Given the description of an element on the screen output the (x, y) to click on. 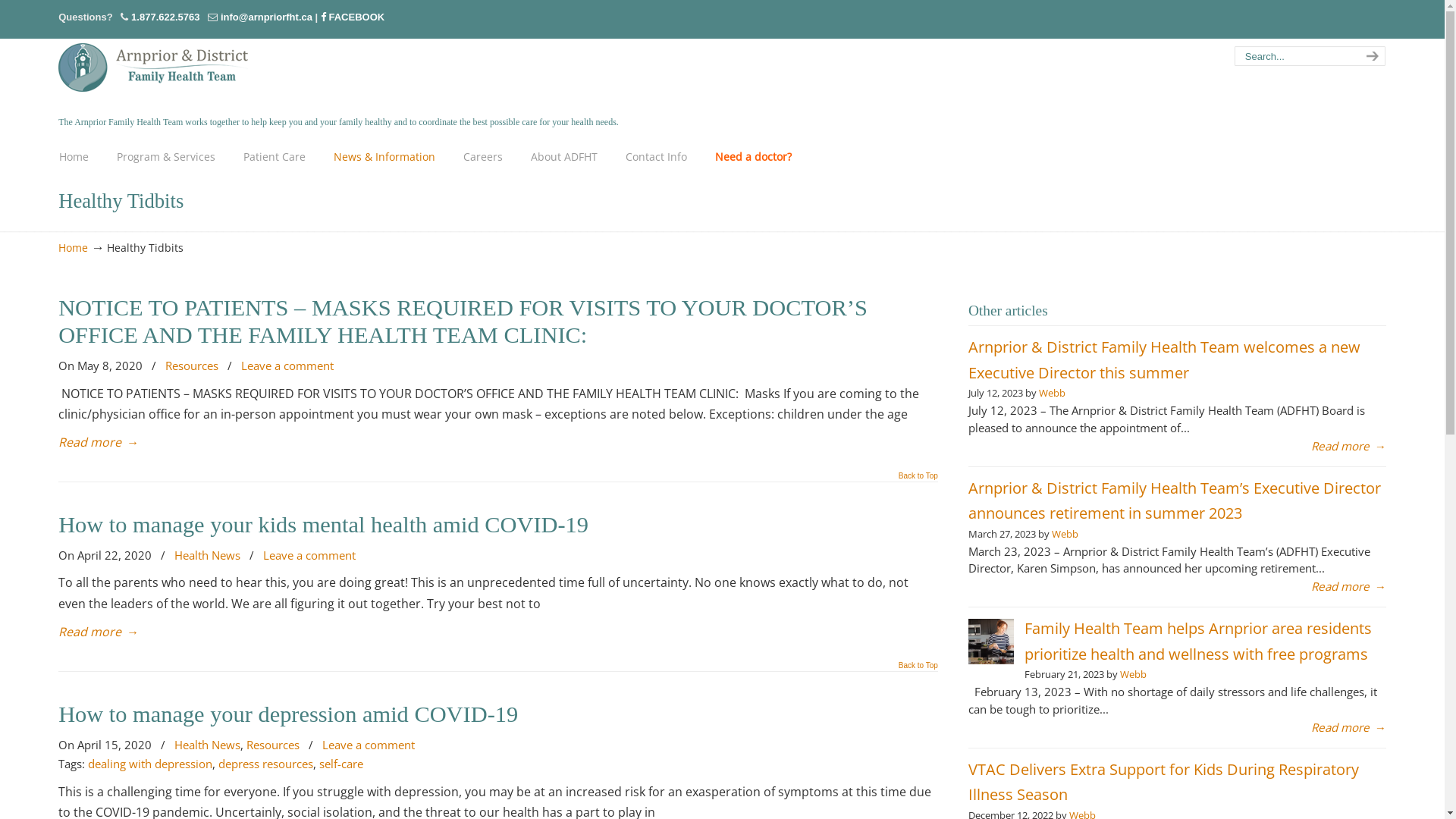
Resources Element type: text (191, 366)
Webb Element type: text (1051, 392)
Leave a comment Element type: text (287, 366)
1.877.622.5763 Element type: text (165, 16)
Contact Info Element type: text (656, 156)
Back to Top Element type: text (918, 669)
Leave a comment Element type: text (309, 555)
Resources Element type: text (272, 745)
Health News Element type: text (207, 745)
Home Element type: text (73, 156)
Patient Care Element type: text (274, 156)
search Element type: text (1370, 55)
About ADFHT Element type: text (563, 156)
Careers Element type: text (482, 156)
FACEBOOK Element type: text (352, 16)
info@arnpriorfht.ca Element type: text (266, 16)
Webb Element type: text (1064, 533)
self-care Element type: text (341, 764)
Need a doctor? Element type: text (752, 156)
dealing with depression Element type: text (149, 764)
Home Element type: text (72, 247)
Leave a comment Element type: text (368, 745)
How to manage your depression amid COVID-19 Element type: text (287, 714)
Program & Services Element type: text (165, 156)
Webb Element type: text (1133, 673)
News & Information Element type: text (384, 156)
How to manage your kids mental health amid COVID-19 Element type: text (323, 524)
Back to Top Element type: text (918, 479)
depress resources Element type: text (265, 764)
Health News Element type: text (207, 555)
